Given the description of an element on the screen output the (x, y) to click on. 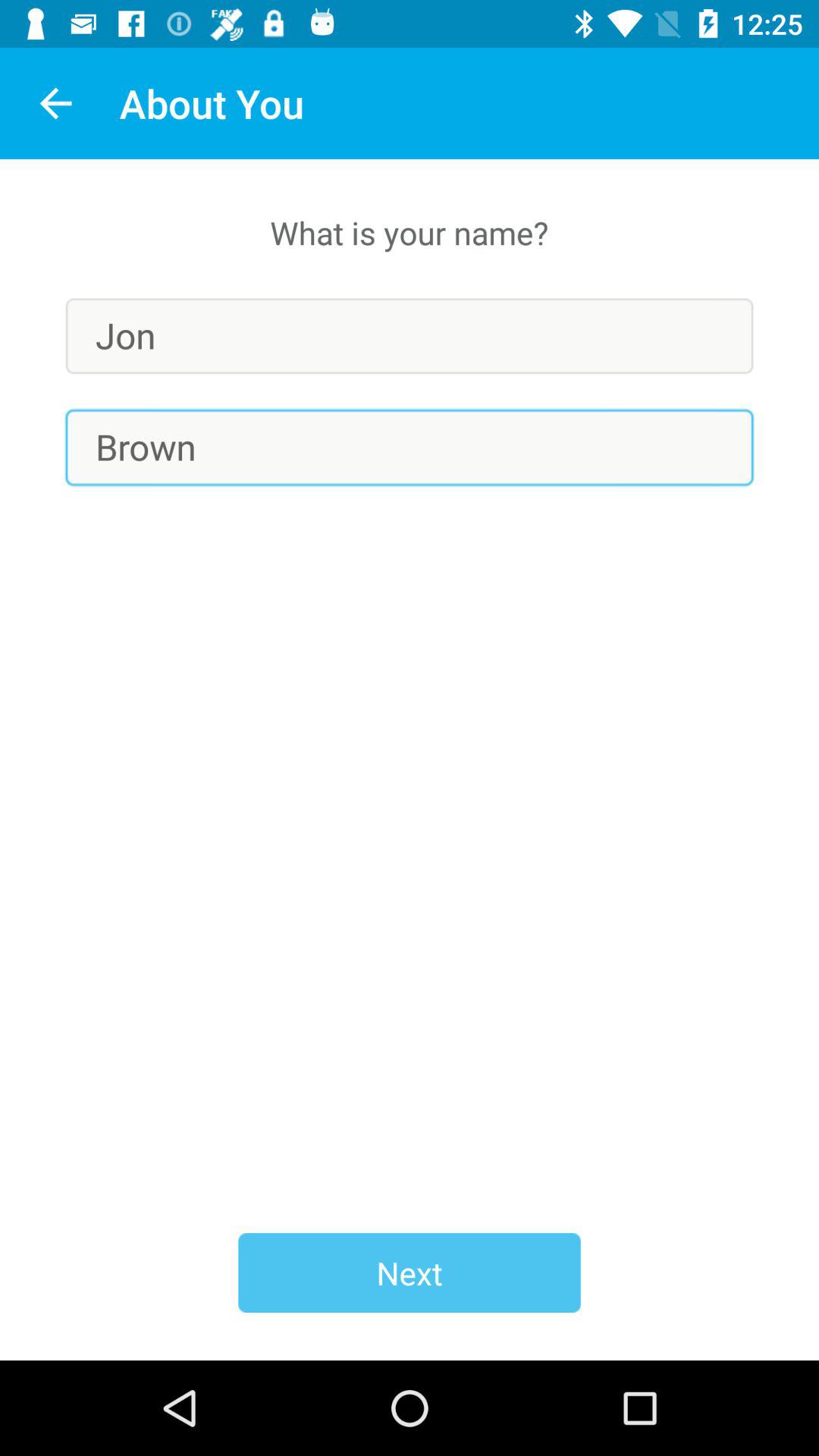
choose app next to about you item (55, 103)
